Given the description of an element on the screen output the (x, y) to click on. 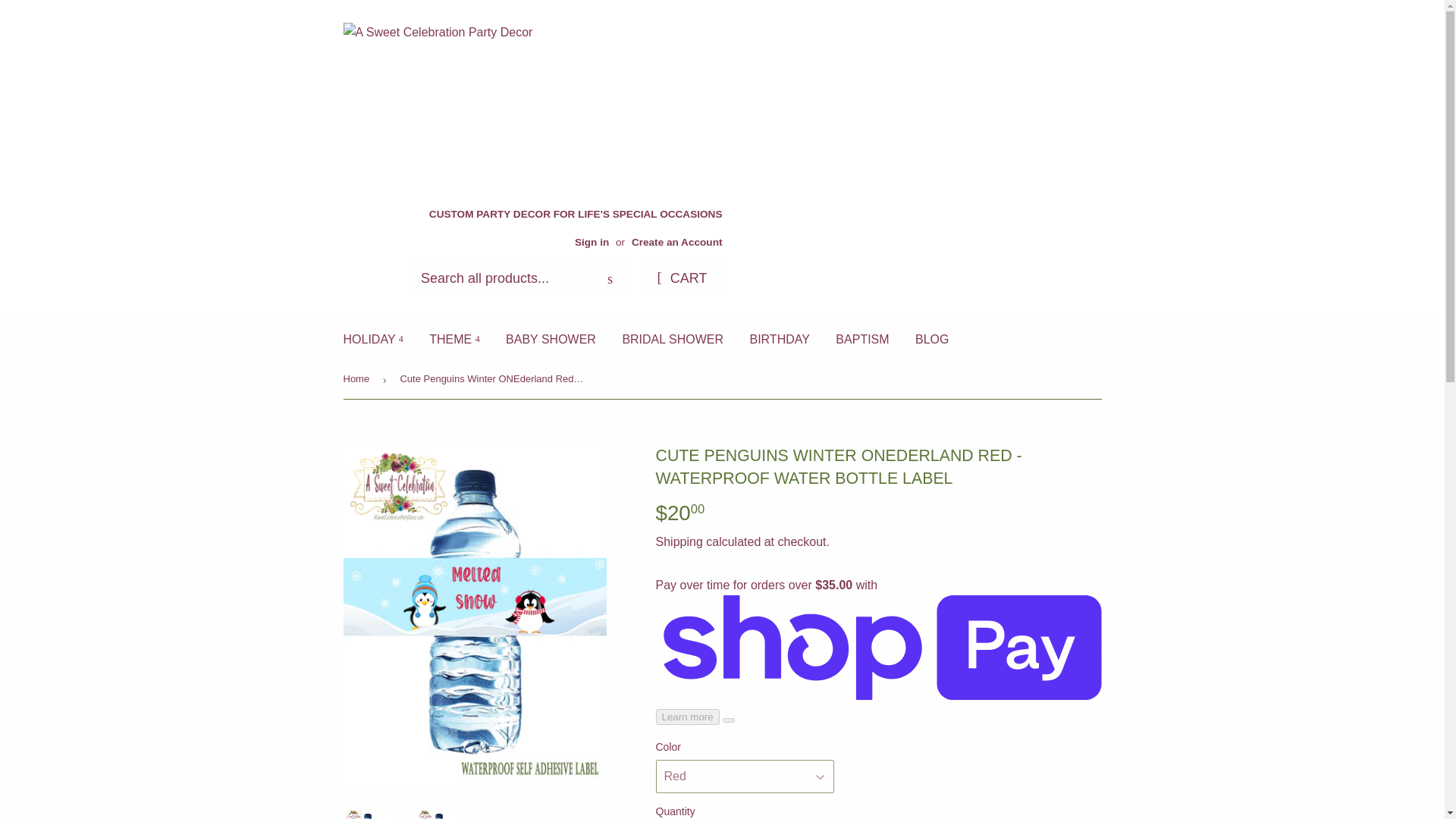
Create an Account (676, 242)
Search (609, 279)
CUSTOM PARTY DECOR FOR LIFE'S SPECIAL OCCASIONS (575, 227)
Sign in (591, 242)
CART (682, 278)
